Given the description of an element on the screen output the (x, y) to click on. 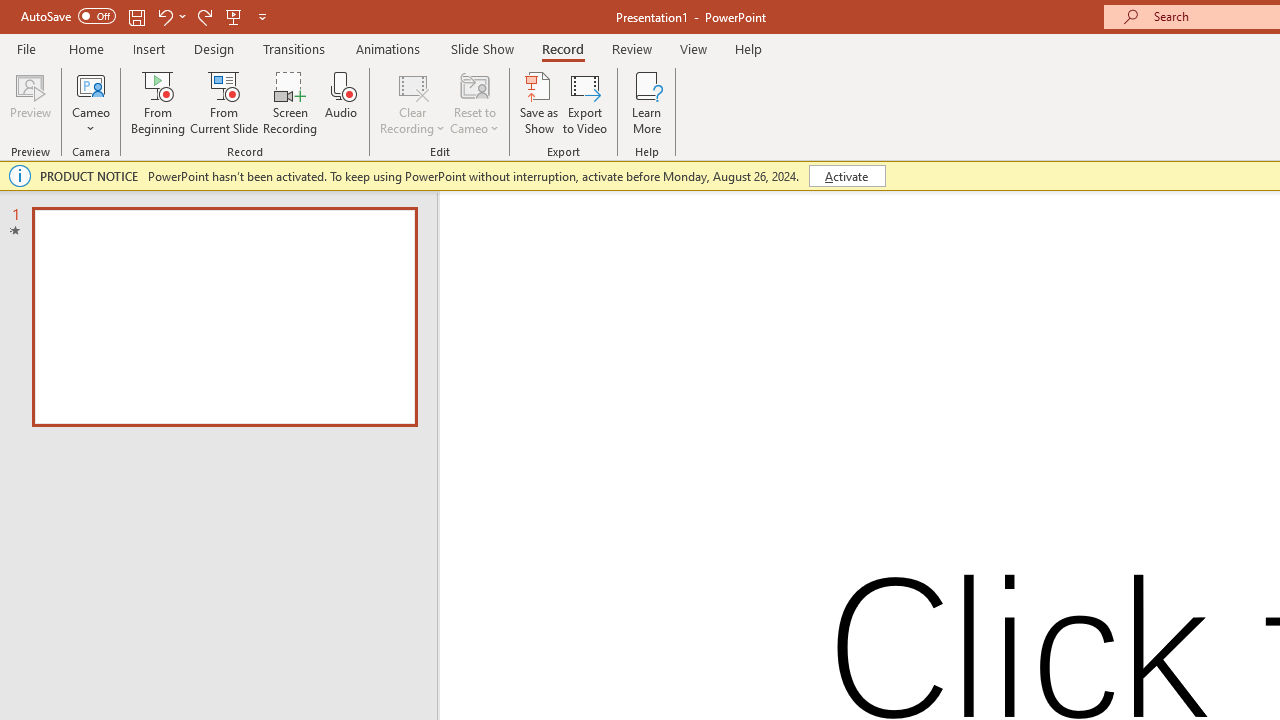
Preview (30, 102)
Reset to Cameo (474, 102)
From Current Slide... (224, 102)
Cameo (91, 102)
Activate (846, 175)
